Given the description of an element on the screen output the (x, y) to click on. 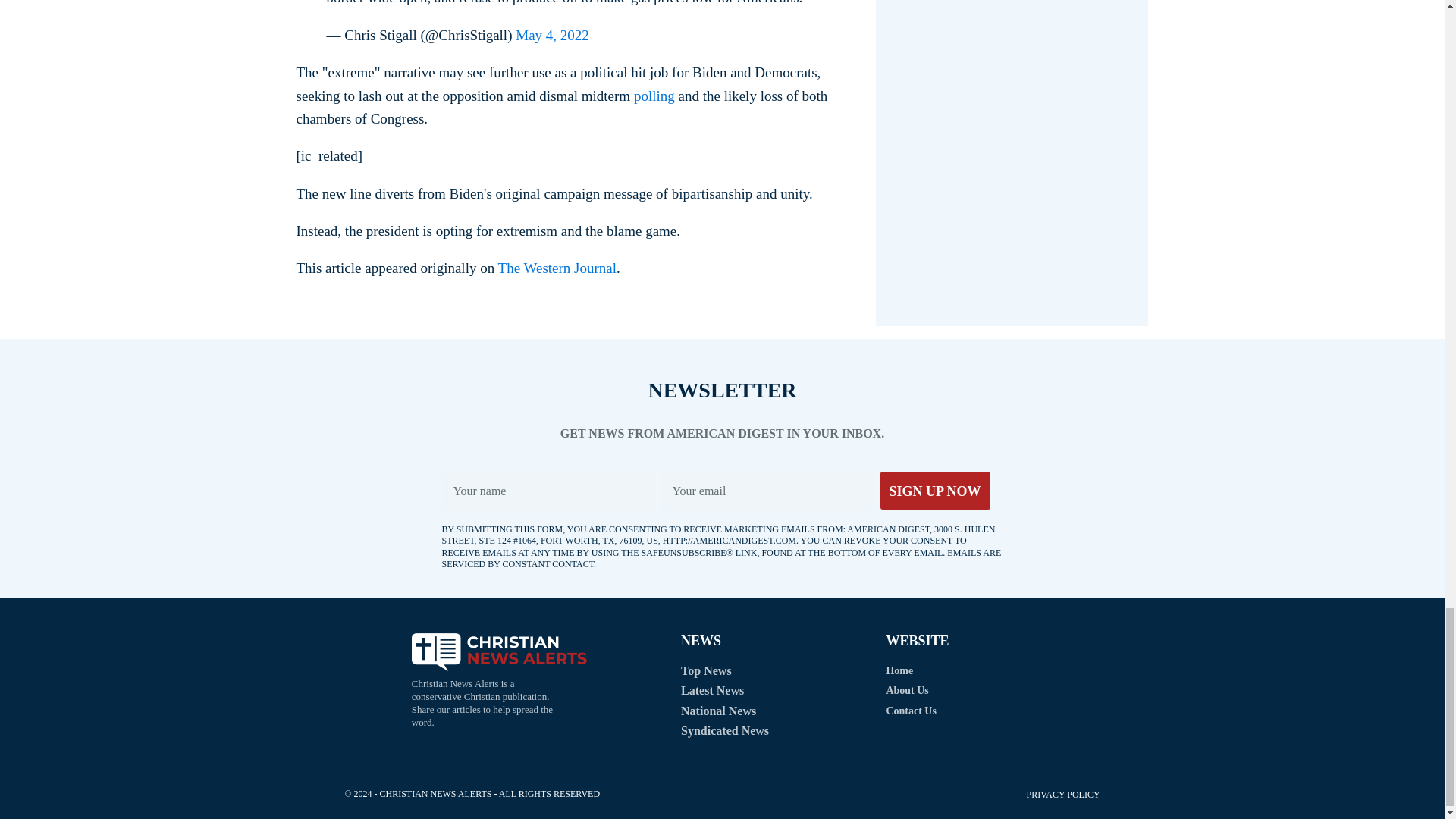
SIGN UP NOW (934, 490)
The Western Journal (556, 268)
May 4, 2022 (552, 35)
polling (654, 94)
